Given the description of an element on the screen output the (x, y) to click on. 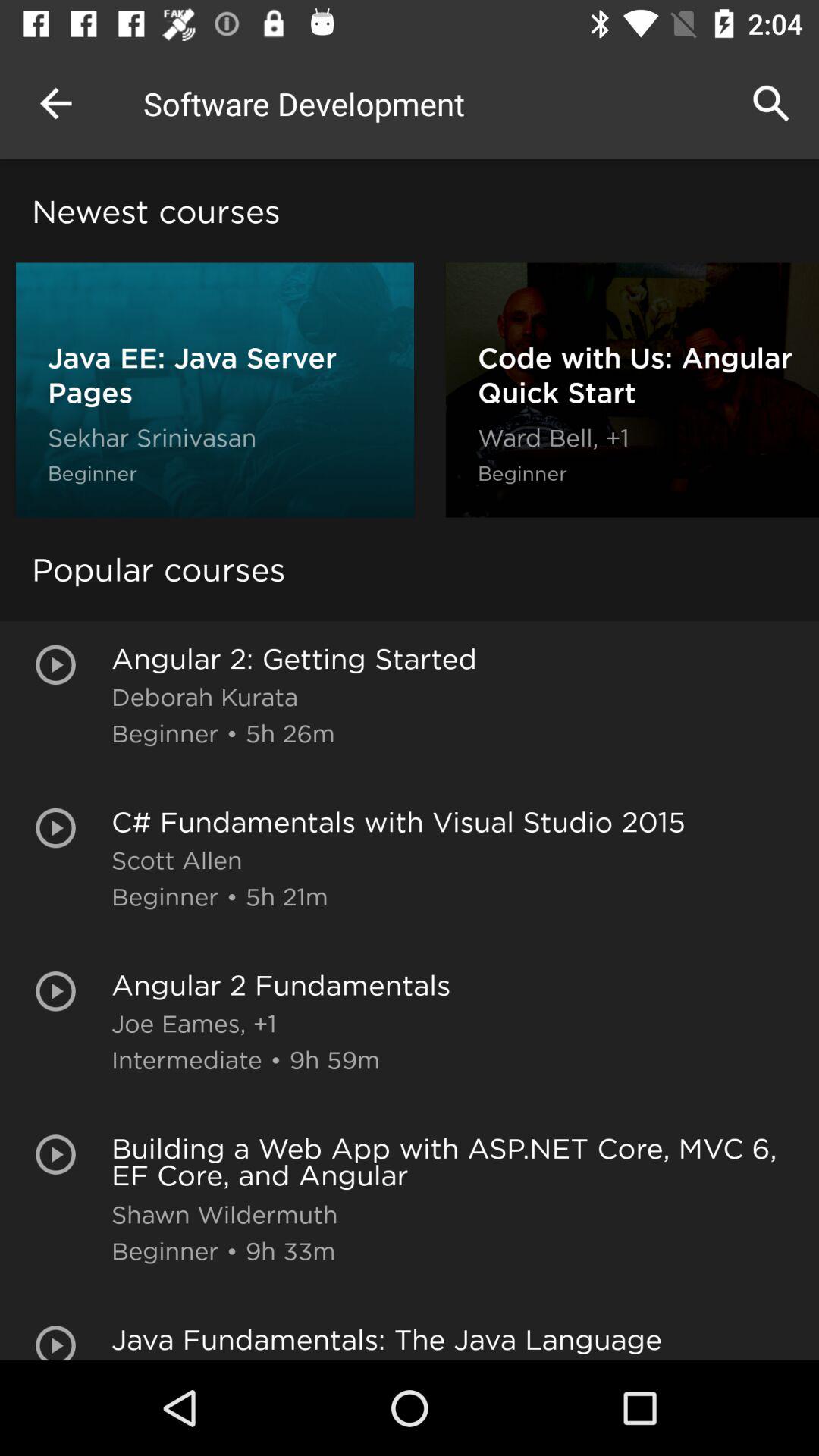
select icon to the left of software development item (55, 103)
